Given the description of an element on the screen output the (x, y) to click on. 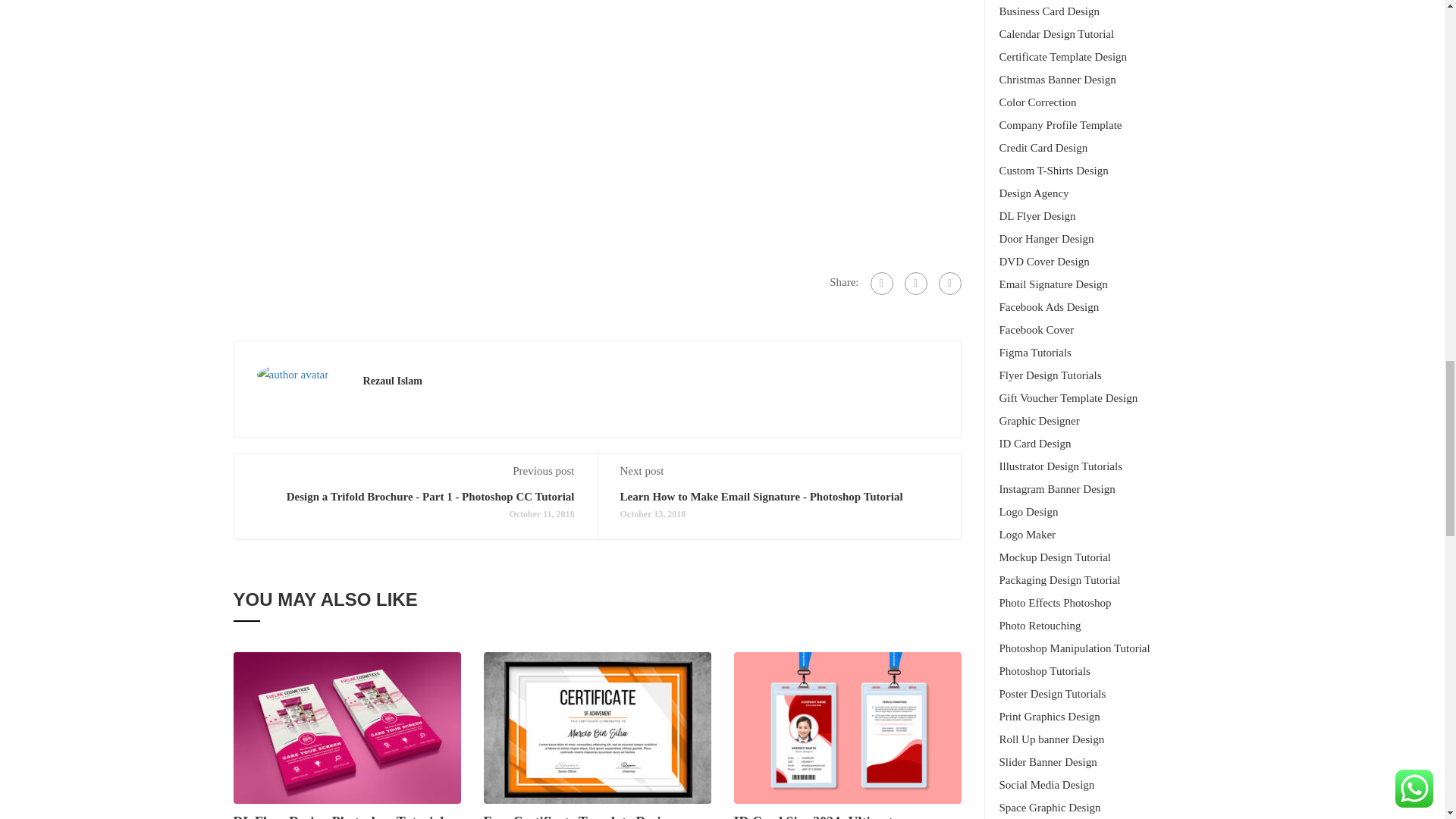
Pinterest (949, 282)
Certificate-Mockup-design-900.jpg (597, 727)
Facebook (881, 282)
DL Flyer Design Photoshop Tutorial (346, 727)
Free Certificate Template Design Tutorial in Photoshop (597, 726)
Twitter (915, 282)
ID Card Size 2024: Ultimate Guidelines and Dimensions (846, 726)
